Given the description of an element on the screen output the (x, y) to click on. 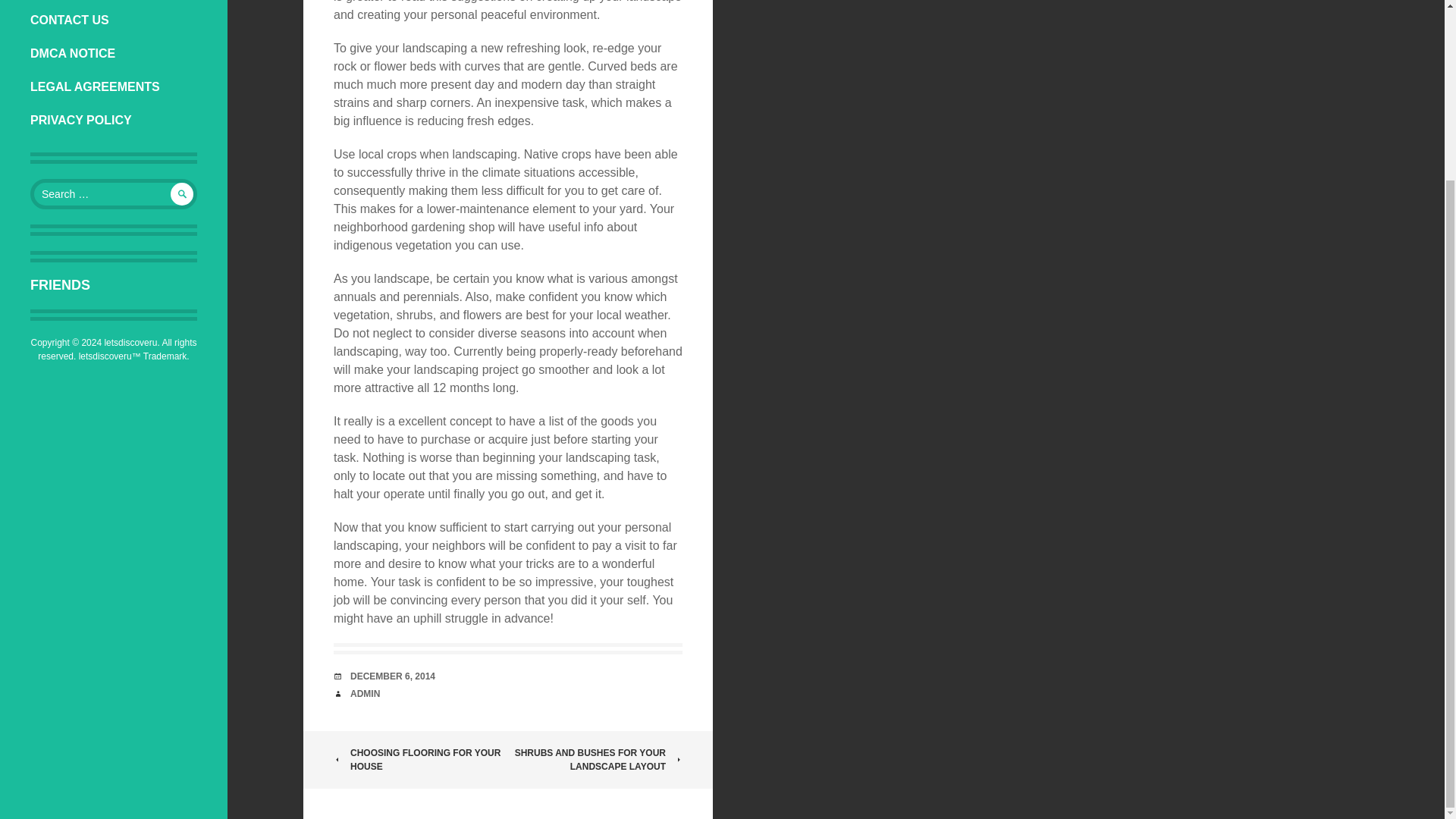
11:36 pm (392, 675)
Skip to content (29, 19)
NEW LANDSCAPING (113, 2)
PRIVACY POLICY (113, 120)
CONTACT US (113, 20)
Search for: (113, 194)
SHRUBS AND BUSHES FOR YOUR LANDSCAPE LAYOUT (595, 759)
DECEMBER 6, 2014 (392, 675)
View all posts by admin (365, 693)
CHOOSING FLOORING FOR YOUR HOUSE (420, 759)
ADMIN (365, 693)
DMCA NOTICE (113, 53)
LEGAL AGREEMENTS (113, 87)
SKIP TO CONTENT (29, 19)
